Given the description of an element on the screen output the (x, y) to click on. 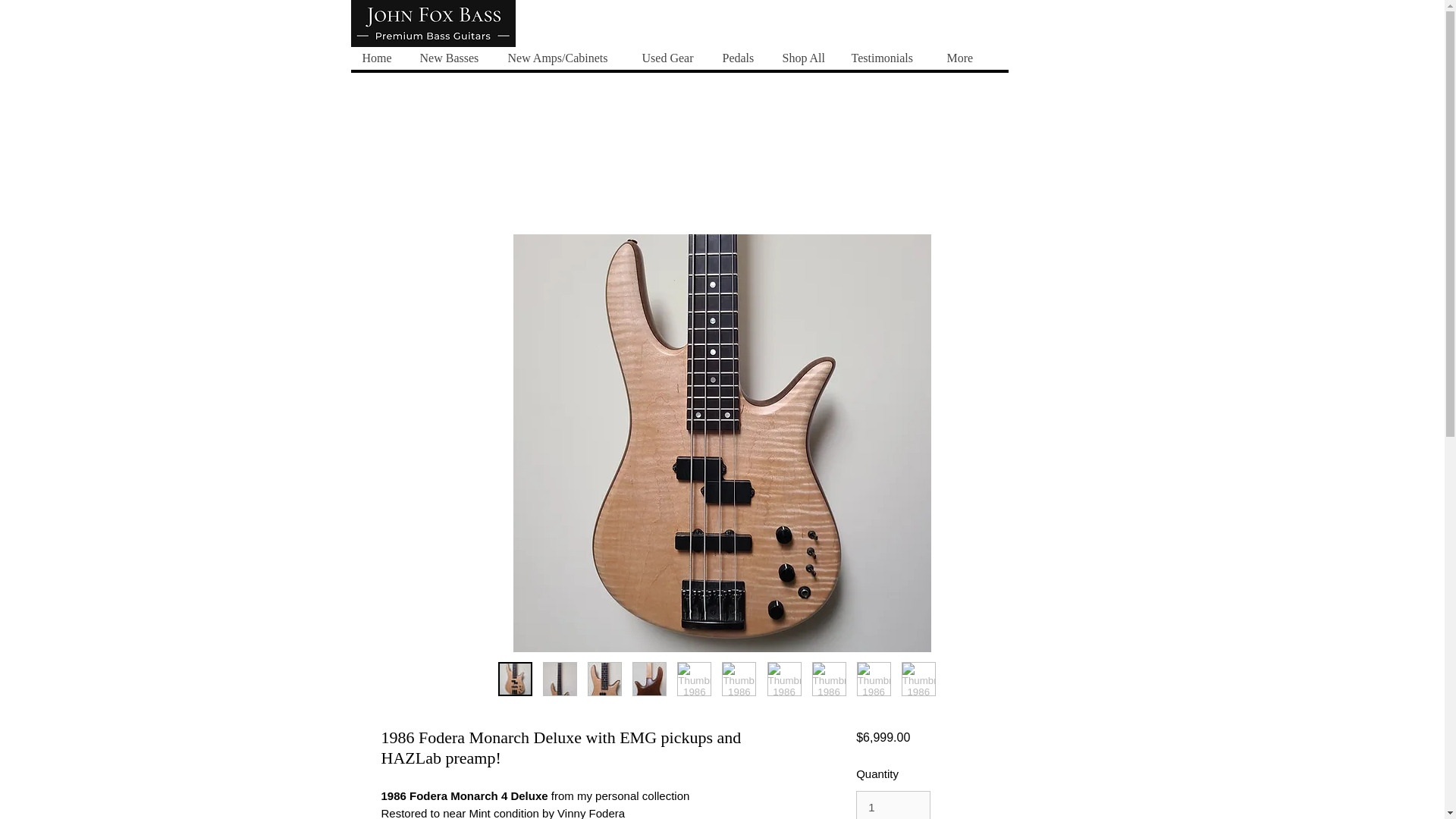
Used Gear (669, 57)
Home (378, 57)
Shop All (805, 57)
Testimonials (886, 57)
Facebook Like (609, 31)
Pedals (740, 57)
New Basses (451, 57)
1 (893, 805)
